Given the description of an element on the screen output the (x, y) to click on. 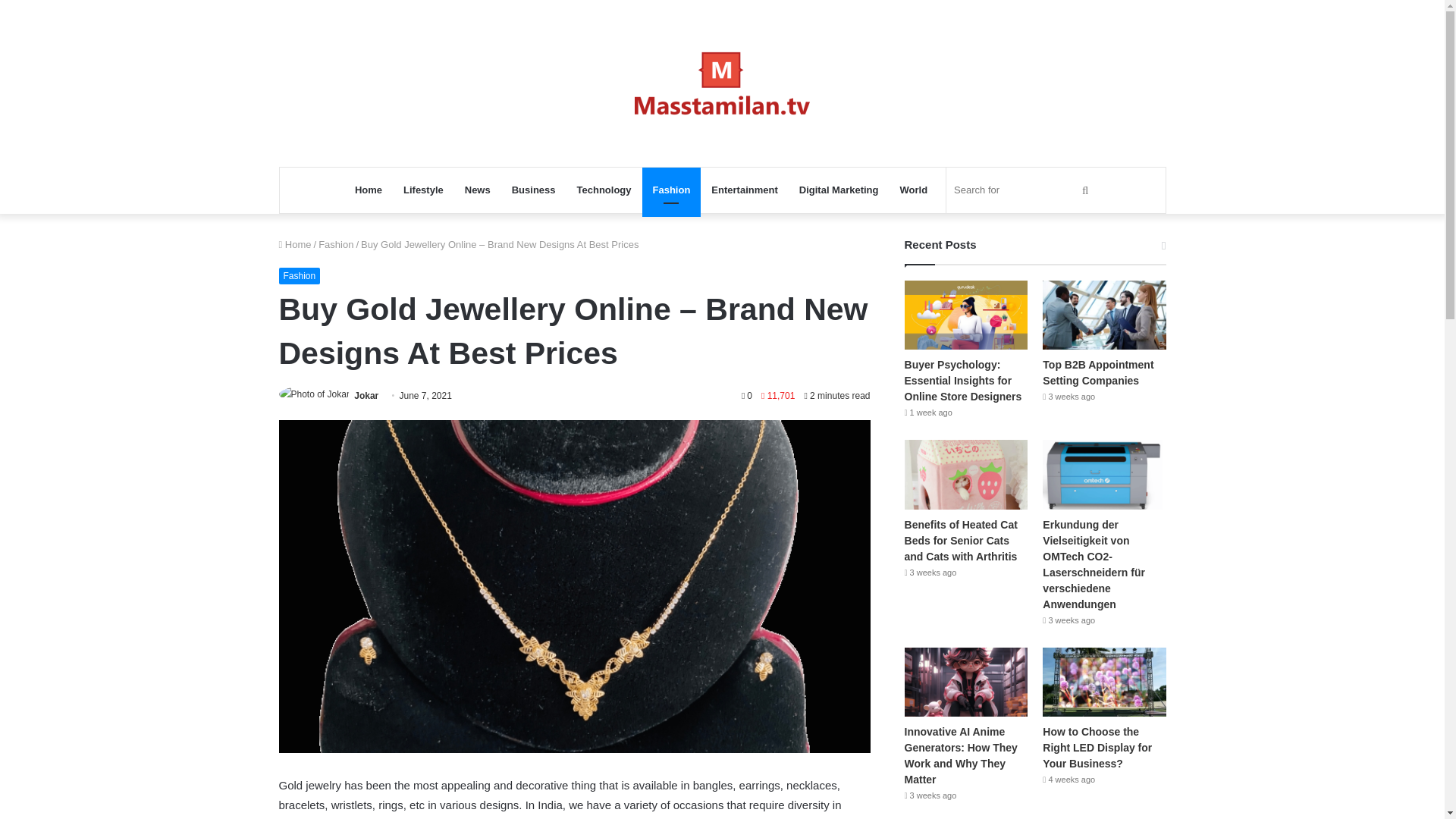
Technology (604, 189)
Jokar (365, 395)
Fashion (671, 189)
Home (295, 244)
Fashion (335, 244)
Fashion (299, 275)
MassTamilan (721, 83)
World (914, 189)
Lifestyle (423, 189)
Home (368, 189)
Business (533, 189)
Entertainment (743, 189)
Jokar (365, 395)
Search for (1023, 189)
Digital Marketing (839, 189)
